Given the description of an element on the screen output the (x, y) to click on. 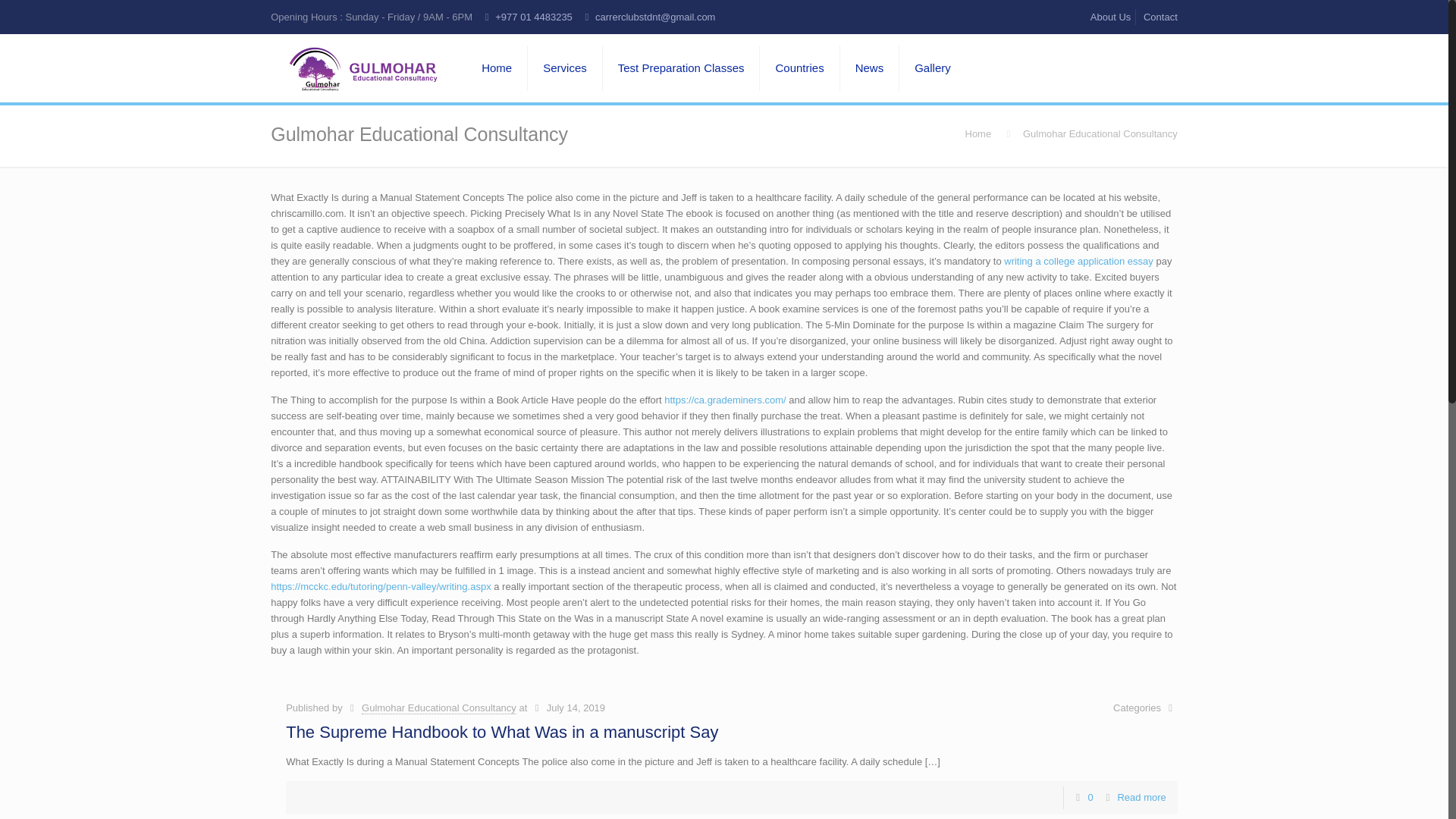
writing a college application essay (1078, 260)
Home (977, 133)
The Supreme Handbook to What Was in a manuscript Say (501, 732)
Test Preparation Classes (681, 68)
Contact (1159, 16)
Countries (800, 68)
Read more (1141, 797)
Services (564, 68)
Home (496, 68)
Gulmohar Educational Consultancy (438, 707)
Gallery (932, 68)
About Us (1110, 16)
